Given the description of an element on the screen output the (x, y) to click on. 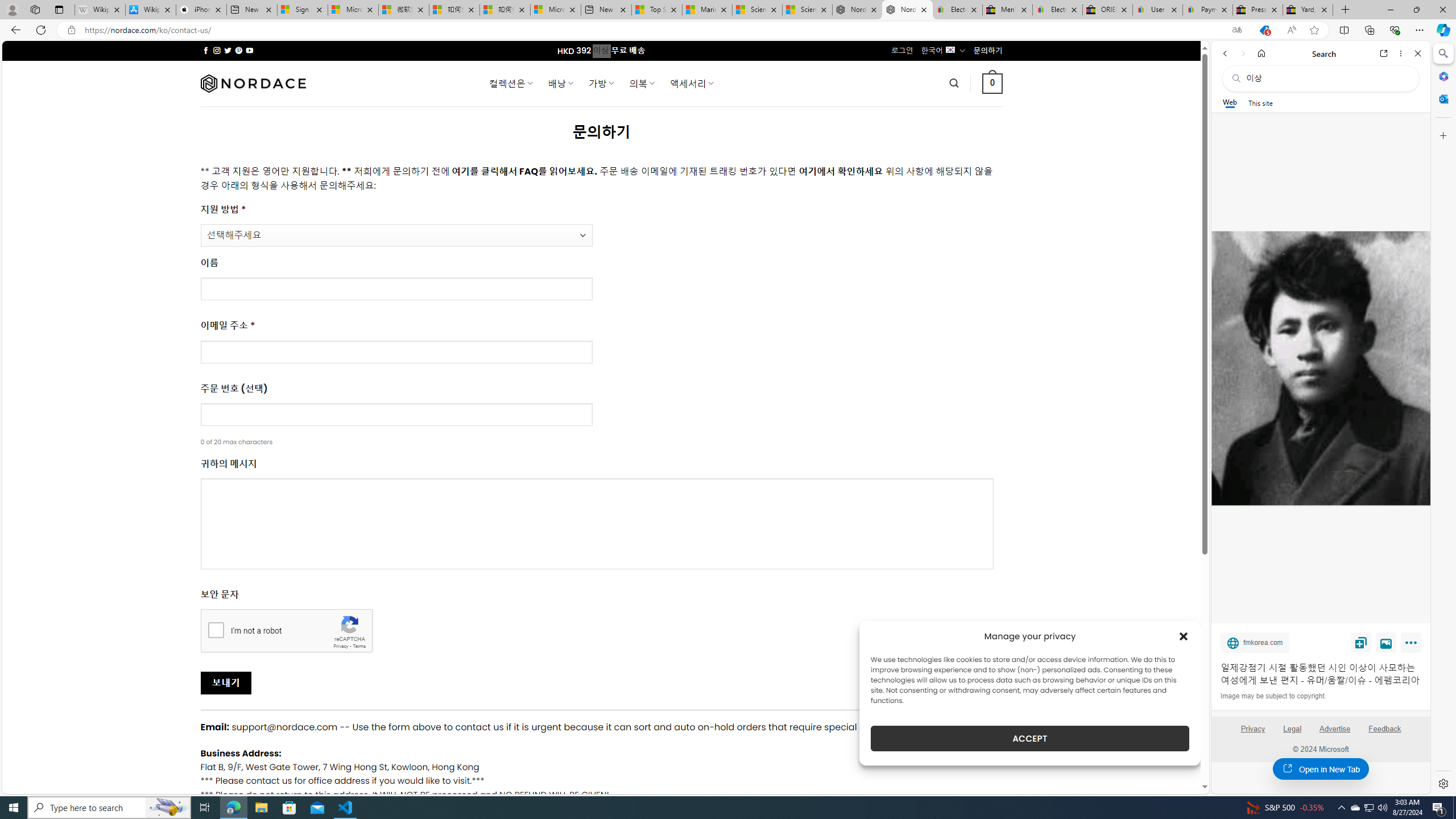
View image (1385, 642)
Nordace - Summer Adventures 2024 (856, 9)
Terms (359, 646)
fmkorea.com (1255, 642)
Class: cmplz-close (1183, 636)
Sign in to your Microsoft account (302, 9)
